Given the description of an element on the screen output the (x, y) to click on. 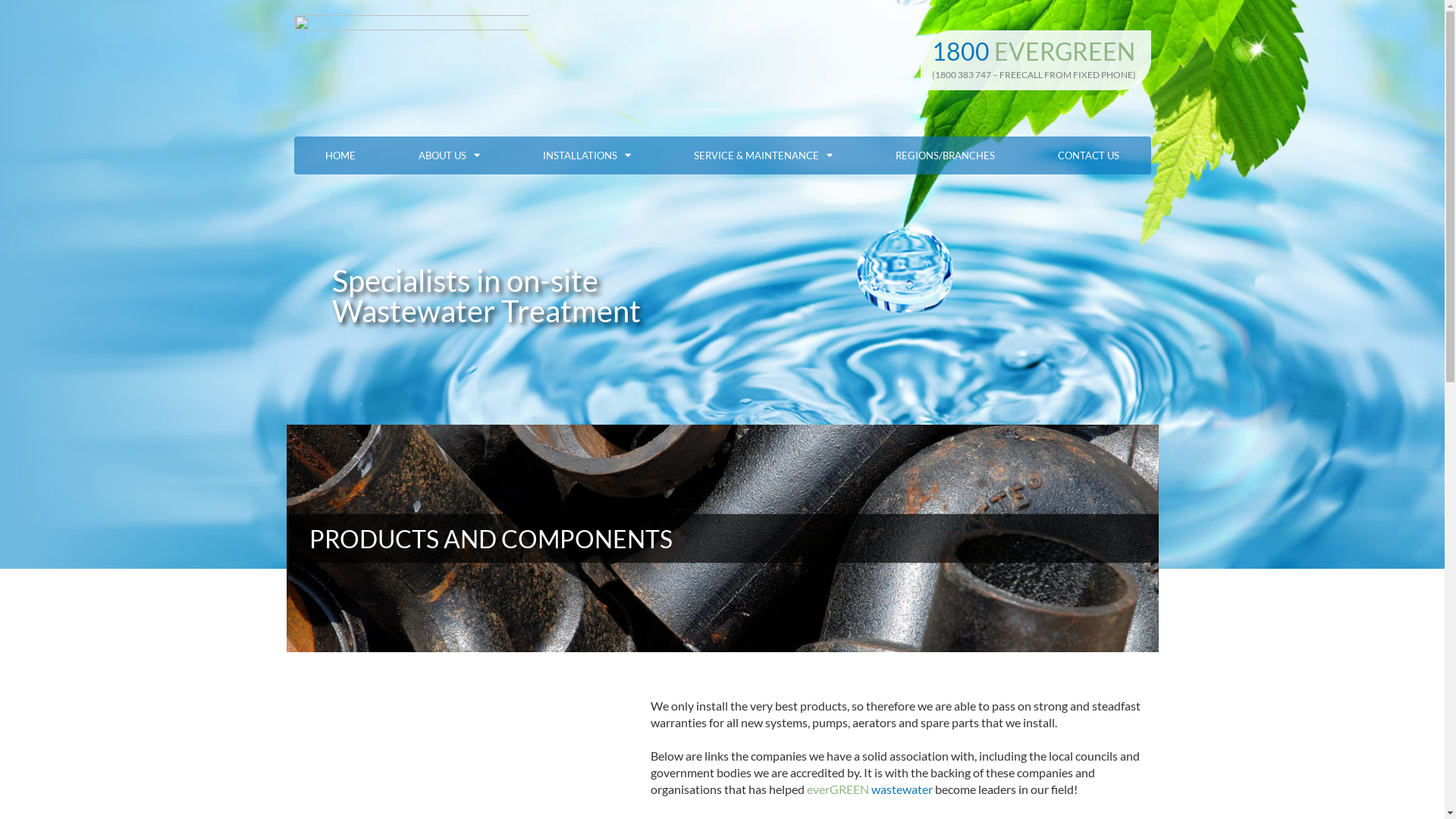
INSTALLATIONS Element type: text (586, 155)
REGIONS/BRANCHES Element type: text (945, 155)
ABOUT US Element type: text (448, 155)
HOME Element type: text (340, 155)
CONTACT US Element type: text (1088, 155)
SERVICE & MAINTENANCE Element type: text (763, 155)
1800 EVERGREEN Element type: text (1033, 50)
